Given the description of an element on the screen output the (x, y) to click on. 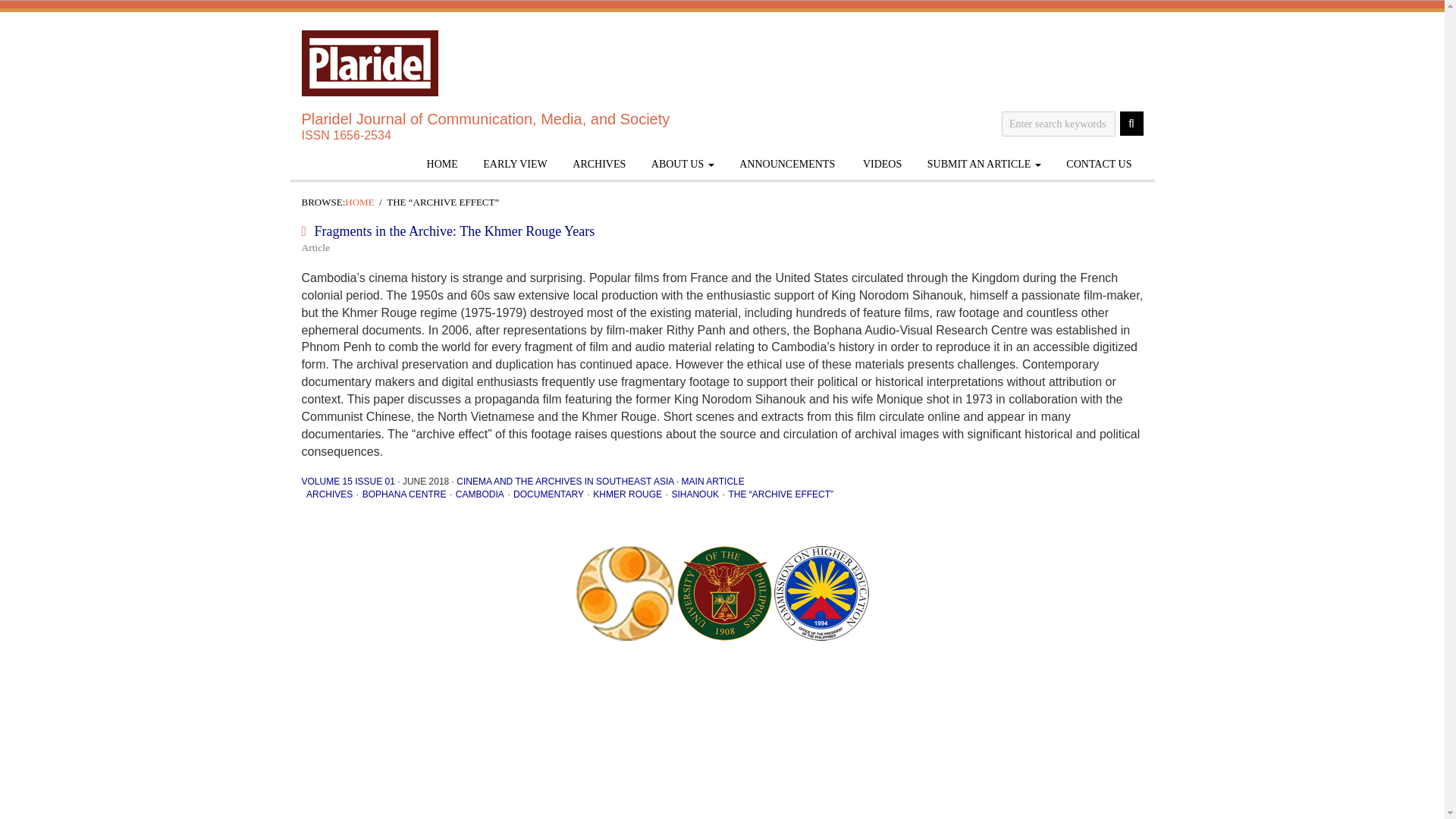
HOME (441, 164)
Early View (515, 164)
SIHANOUK (695, 494)
Plaridel Journal (369, 63)
CINEMA AND THE ARCHIVES IN SOUTHEAST ASIA (564, 480)
Announcements (786, 164)
ARCHIVES (598, 164)
EARLY VIEW (515, 164)
Videos (881, 164)
About Us (682, 164)
BOPHANA CENTRE (404, 494)
Fragments in the Archive: The Khmer Rouge Years (454, 231)
DOCUMENTARY (548, 494)
 VIDEOS (881, 164)
VOLUME 15 ISSUE 01 (347, 480)
